Given the description of an element on the screen output the (x, y) to click on. 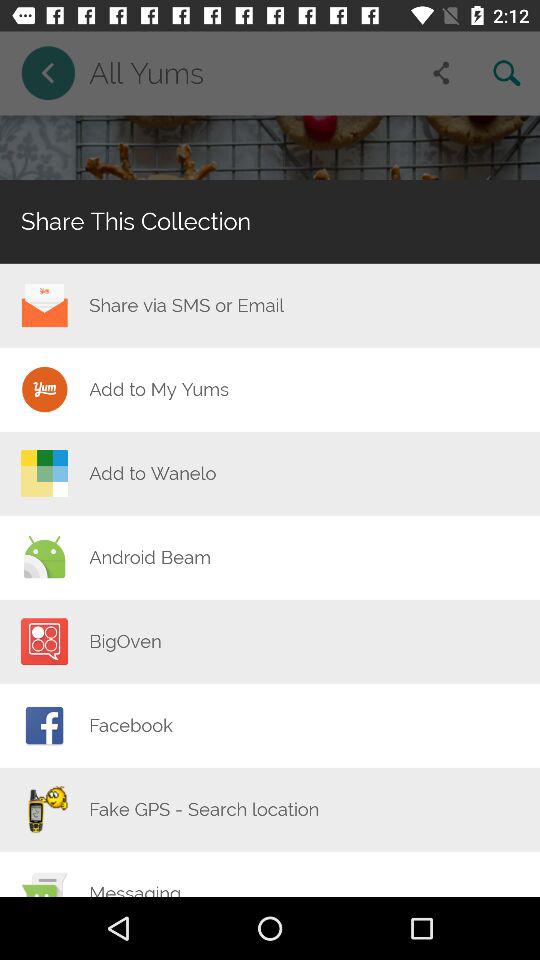
press the icon above fake gps search icon (130, 725)
